Given the description of an element on the screen output the (x, y) to click on. 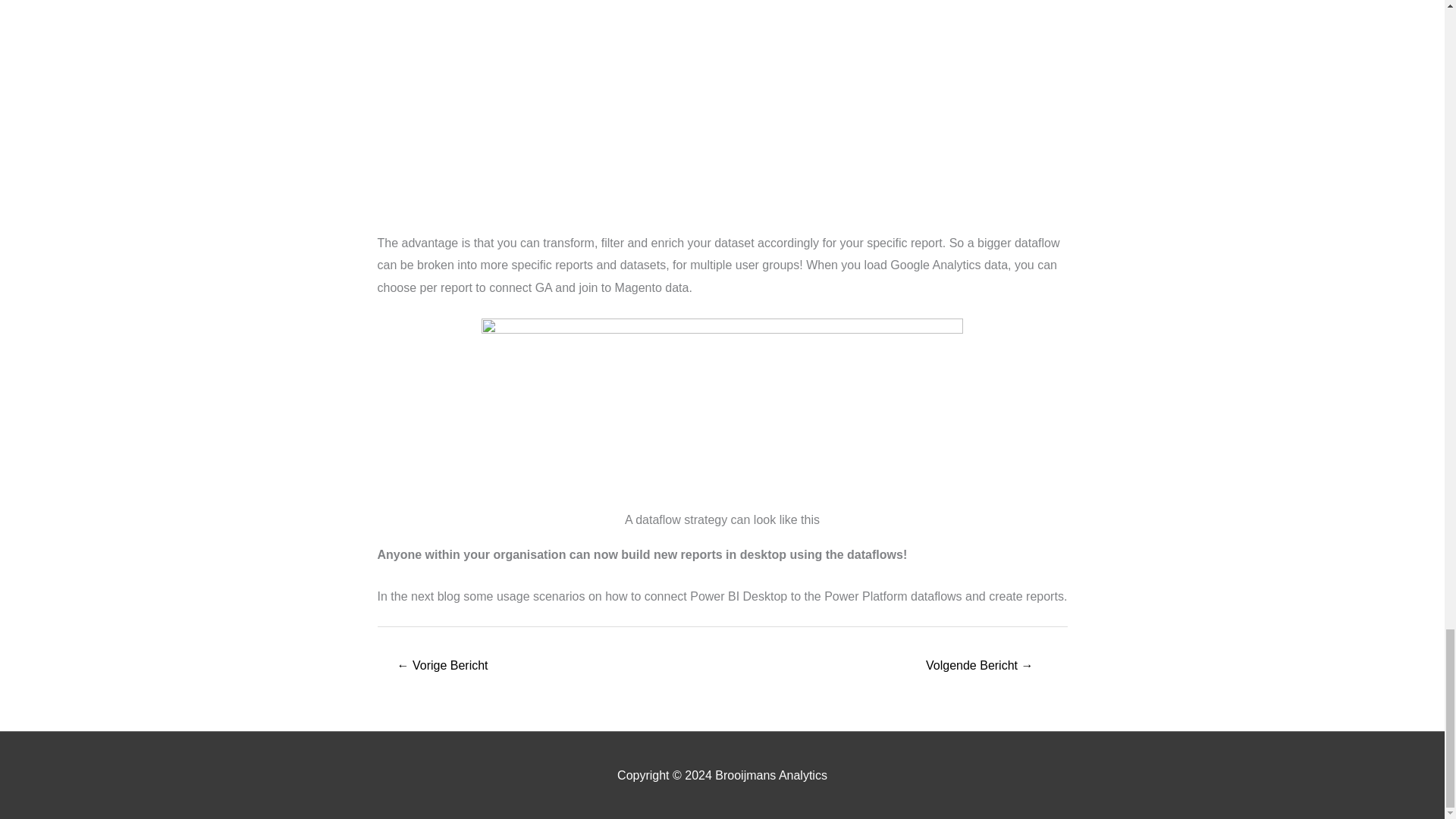
Power BI Magento Datasets and Reports (979, 666)
Stel: je hebt een bedrijf en je hebt data, wat dan? (442, 666)
